Given the description of an element on the screen output the (x, y) to click on. 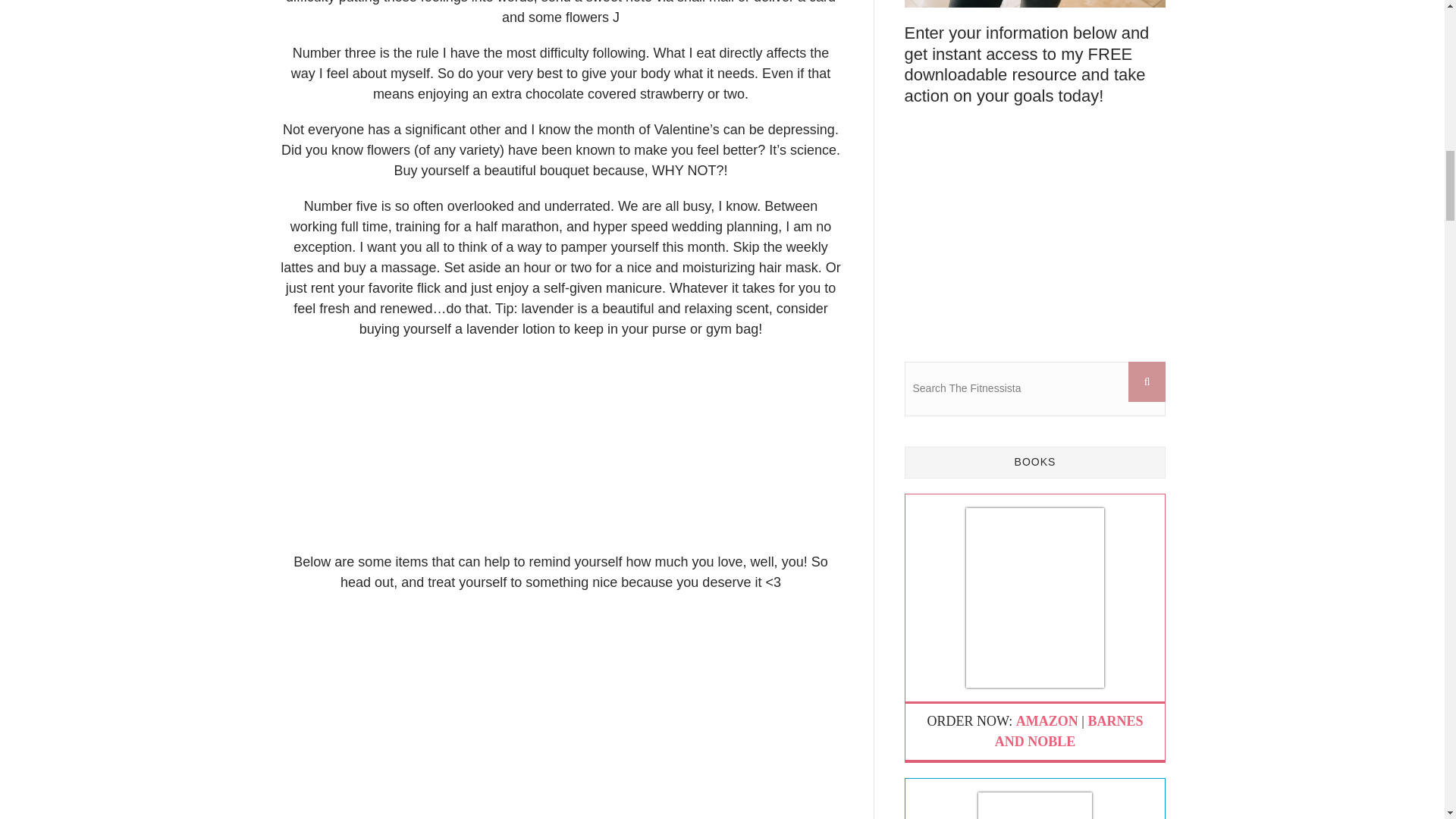
Search The Fitnessista (1035, 388)
Photo 2-2.jpg (561, 713)
Search The Fitnessista (1035, 388)
